Given the description of an element on the screen output the (x, y) to click on. 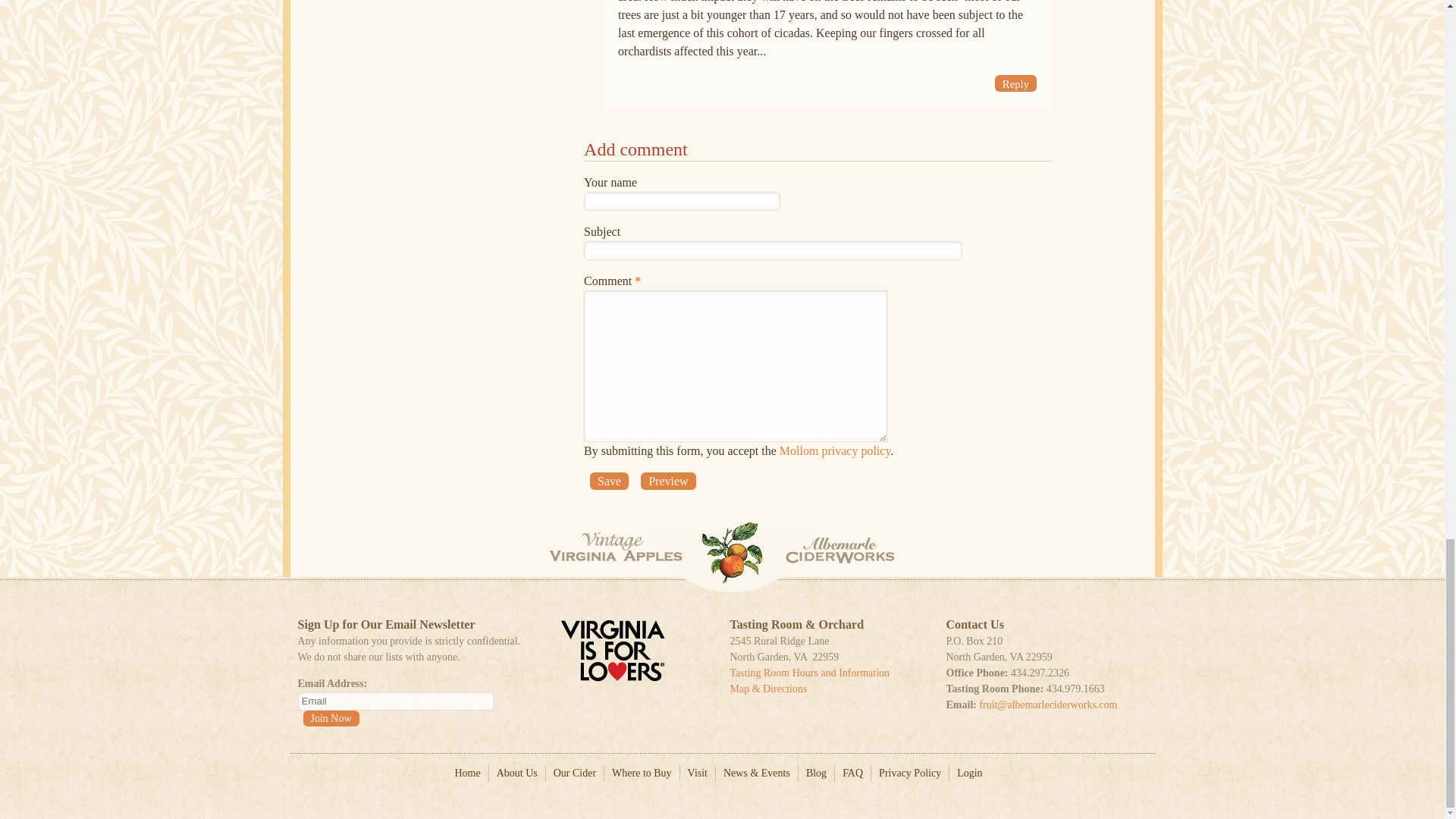
Preview (667, 480)
This field is required. (637, 280)
Join Now (330, 718)
Save (608, 480)
